Given the description of an element on the screen output the (x, y) to click on. 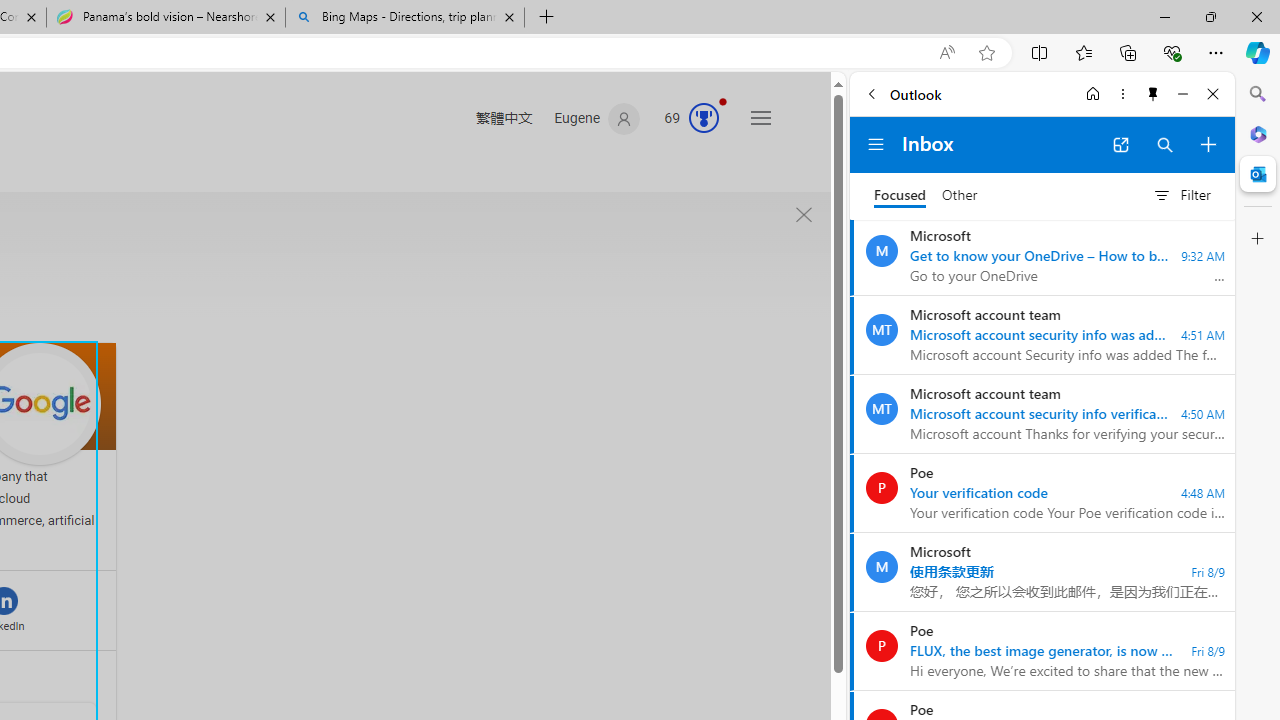
Compose new mail (1208, 144)
Open in new tab (1120, 144)
